Given the description of an element on the screen output the (x, y) to click on. 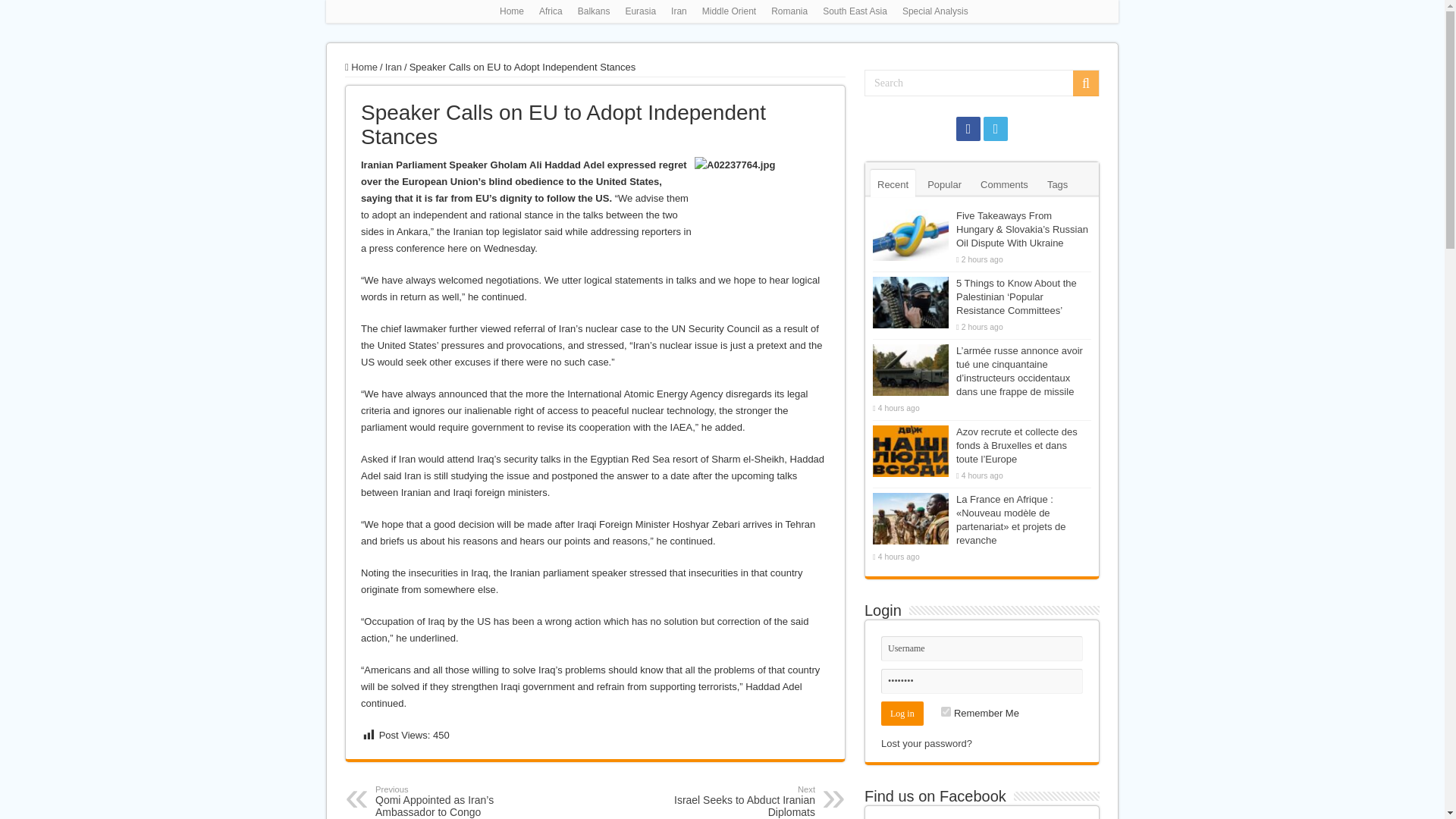
Recent (892, 183)
Romania (788, 11)
forever (945, 711)
Balkans (593, 11)
Home (361, 66)
Popular (944, 183)
Africa (550, 11)
Log in (901, 713)
Eurasia (640, 11)
Username (737, 801)
Password (981, 648)
Comments (981, 681)
Facebook (1004, 183)
Middle Orient (967, 128)
